Given the description of an element on the screen output the (x, y) to click on. 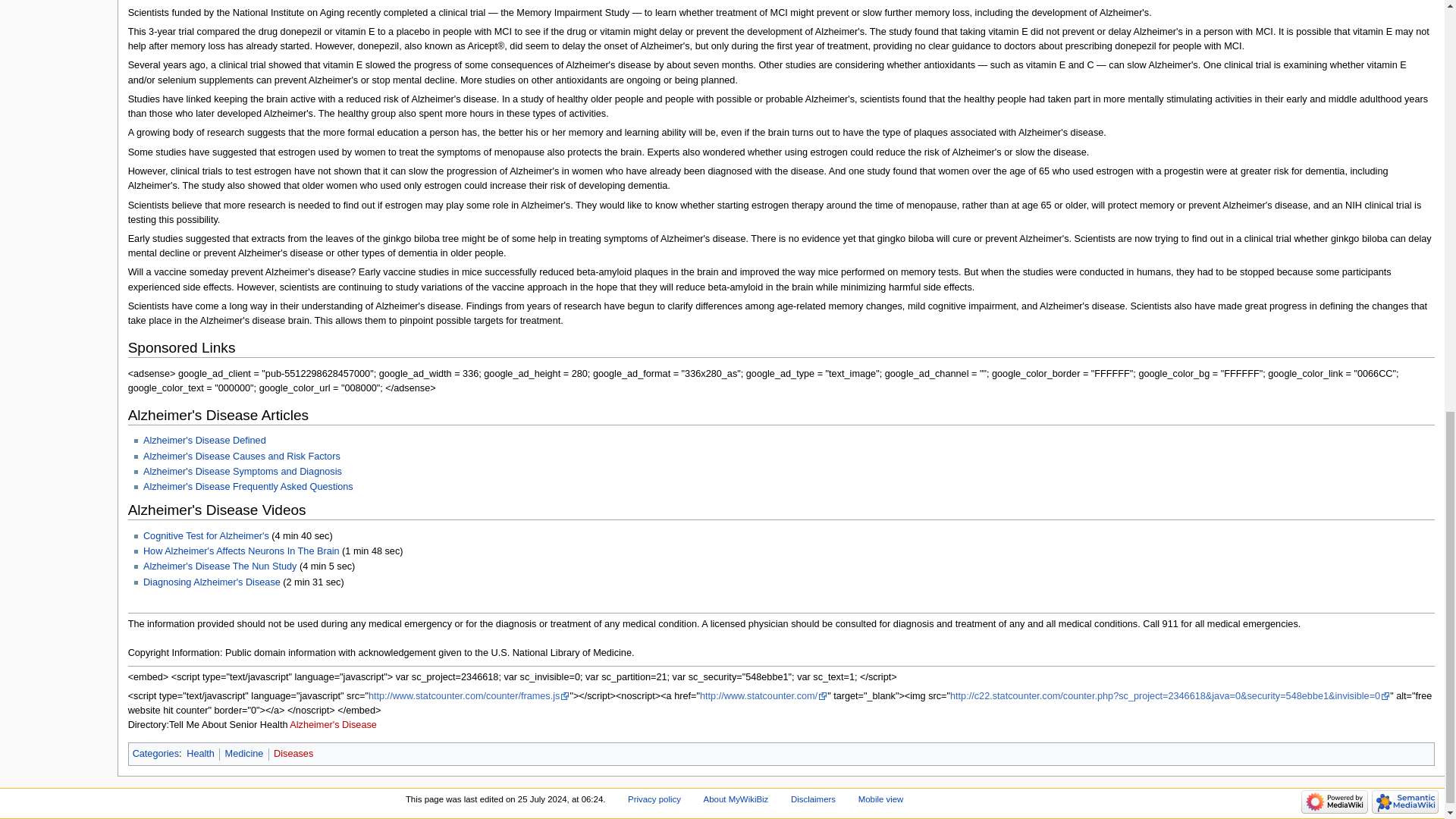
Alzheimer's Disease The Nun Study (219, 566)
Medicine (244, 753)
Category:Health (200, 753)
Diseases (293, 753)
Health (200, 753)
How Alzheimer's Affects Neurons In The Brain (240, 551)
Alzheimer's Disease Frequently Asked Questions (247, 486)
Special:Categories (155, 753)
Alzheimer's Disease Defined (204, 439)
Alzheimer's Disease (333, 724)
Alzheimer's Disease Symptoms and Diagnosis (242, 471)
Alzheimer's Disease Causes and Risk Factors (241, 456)
Diagnosing Alzheimer's Disease (211, 582)
Categories (155, 753)
Cognitive Test for Alzheimer's (205, 535)
